Given the description of an element on the screen output the (x, y) to click on. 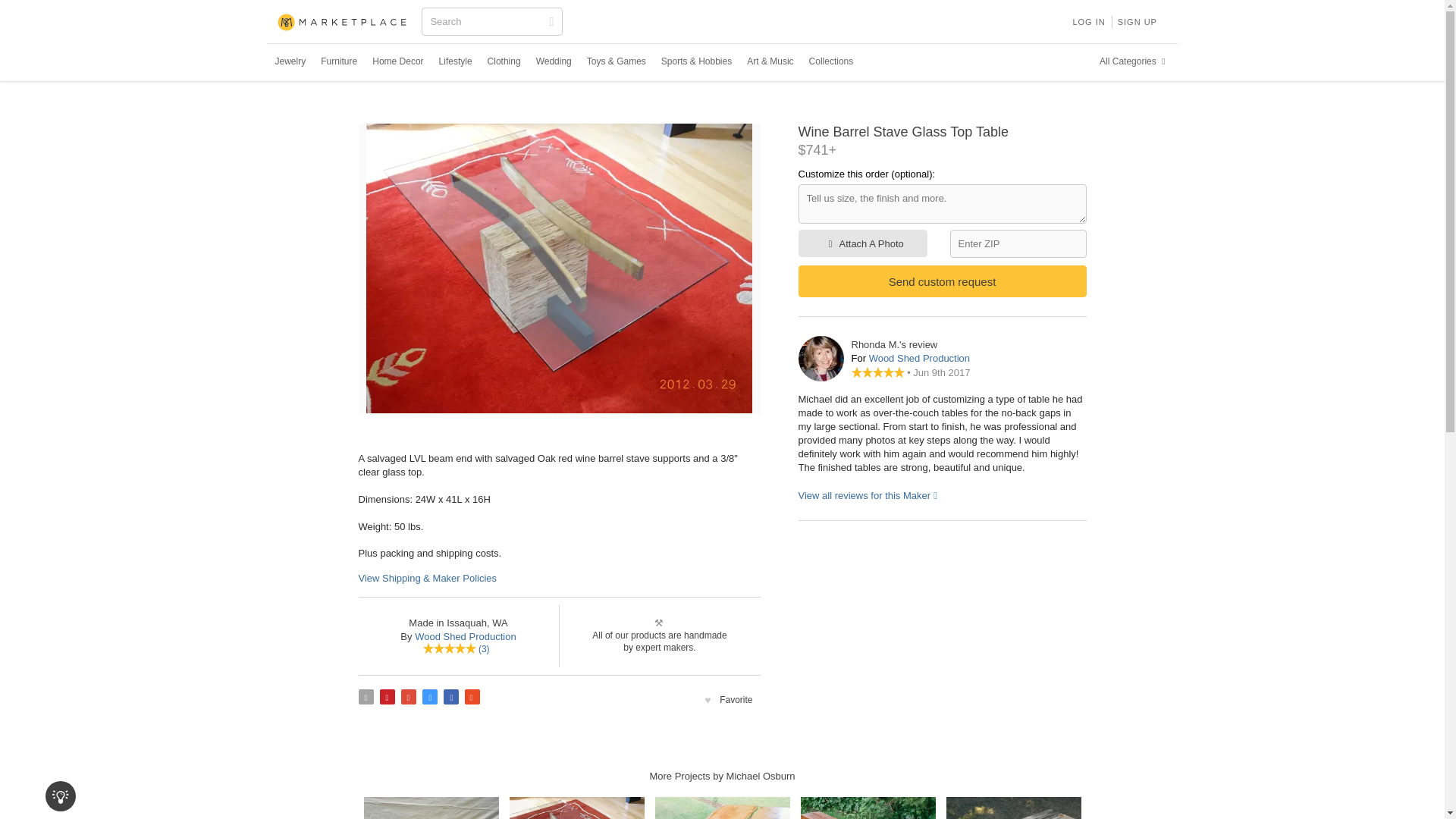
CUSTOMMADE (342, 22)
Custom Jewelry (289, 61)
Log in to CustomMade (1087, 21)
SIGN UP (1137, 21)
LOG IN (1087, 21)
Jewelry (289, 61)
All Categories (1134, 61)
